Given the description of an element on the screen output the (x, y) to click on. 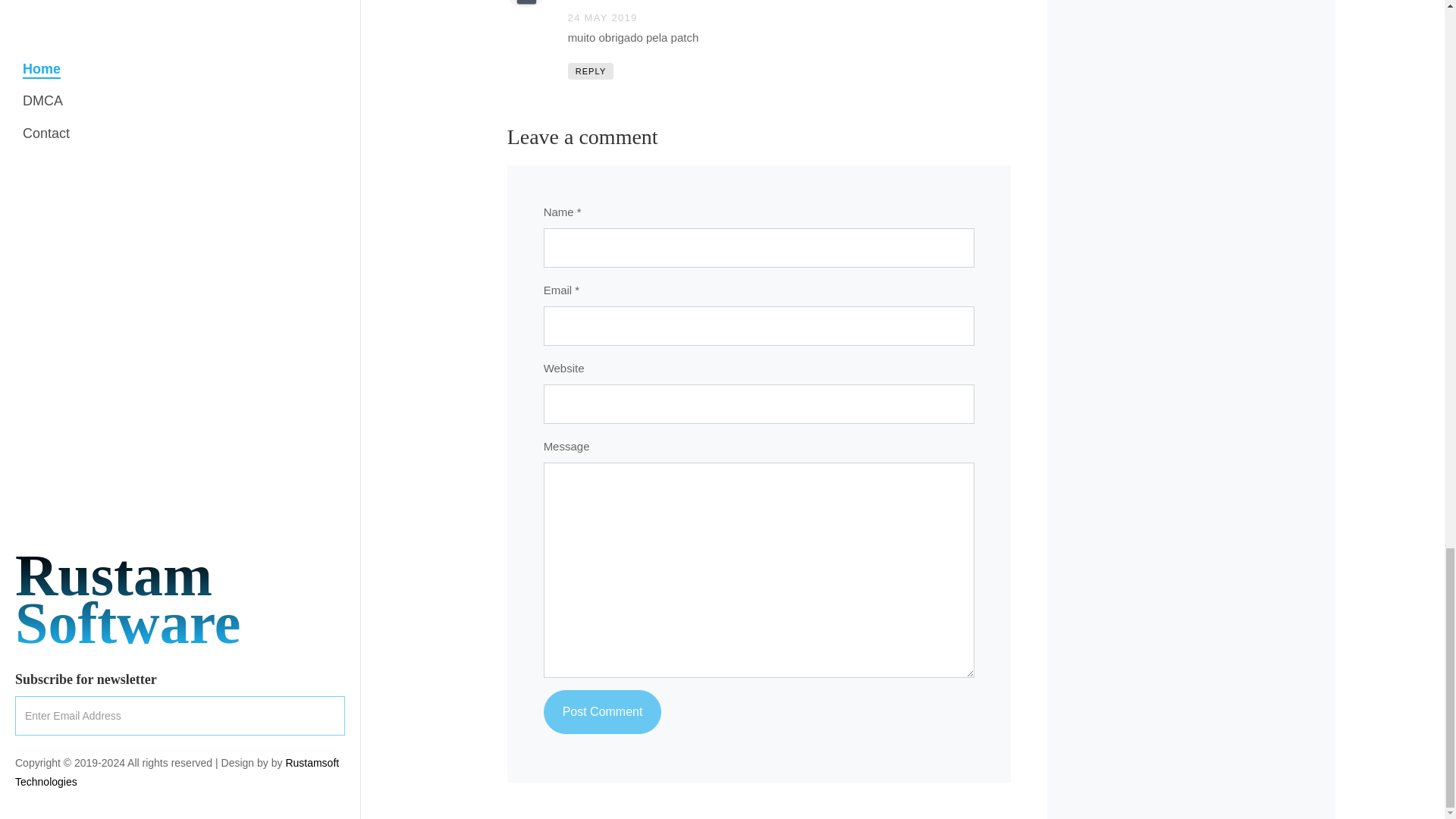
Post Comment (602, 711)
Post Comment (602, 711)
REPLY (590, 71)
